Given the description of an element on the screen output the (x, y) to click on. 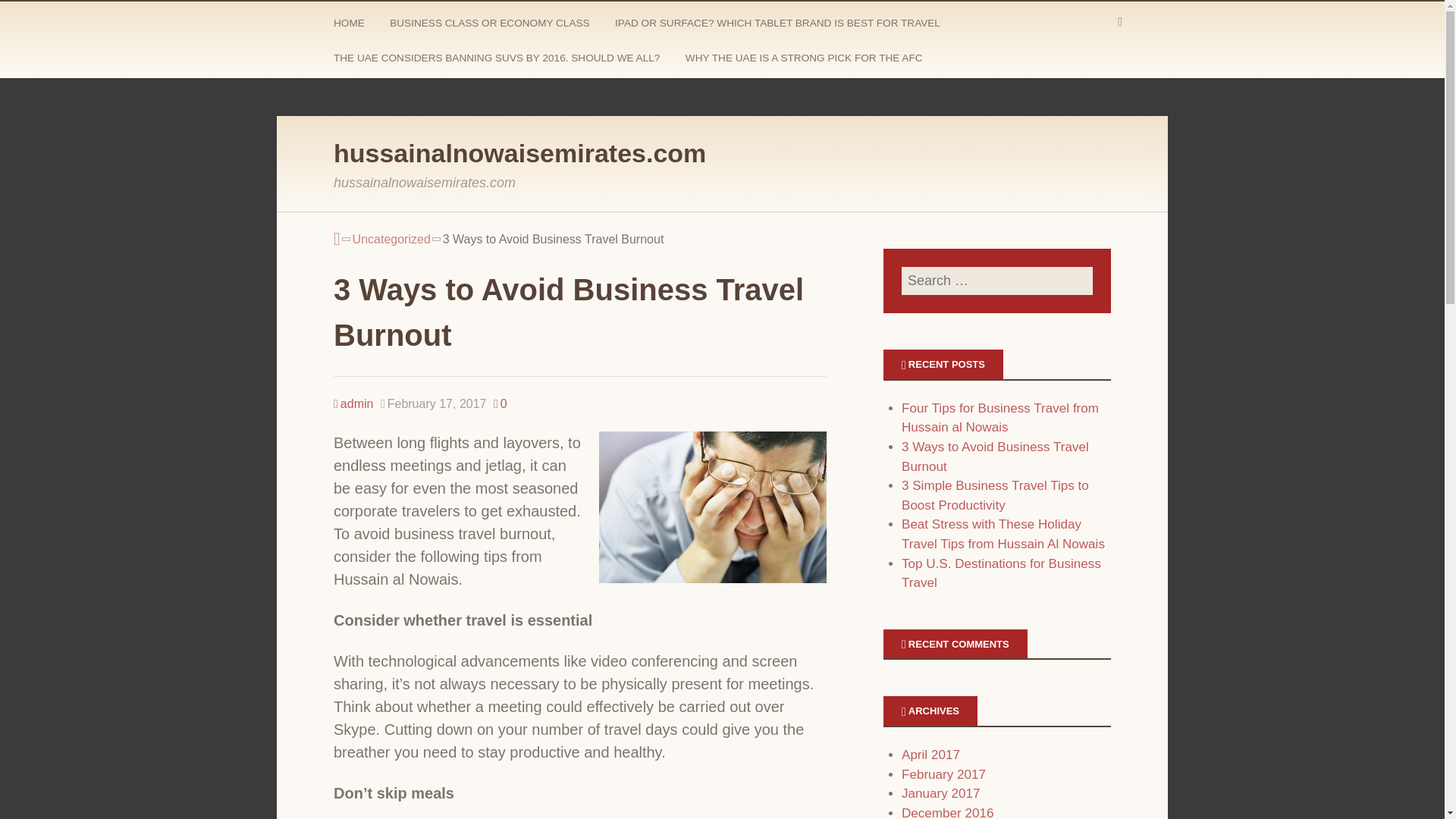
3 Ways to Avoid Business Travel Burnout (995, 456)
Four Tips for Business Travel from Hussain al Nowais (1000, 417)
April 2017 (930, 754)
February 2017 (943, 774)
WHY THE UAE IS A STRONG PICK FOR THE AFC (805, 61)
THE UAE CONSIDERS BANNING SUVS BY 2016. SHOULD WE ALL? (498, 61)
January 2017 (940, 793)
admin (352, 403)
Friday, February 17, 2017, 8:34 pm (433, 403)
Top U.S. Destinations for Business Travel (1000, 573)
